Given the description of an element on the screen output the (x, y) to click on. 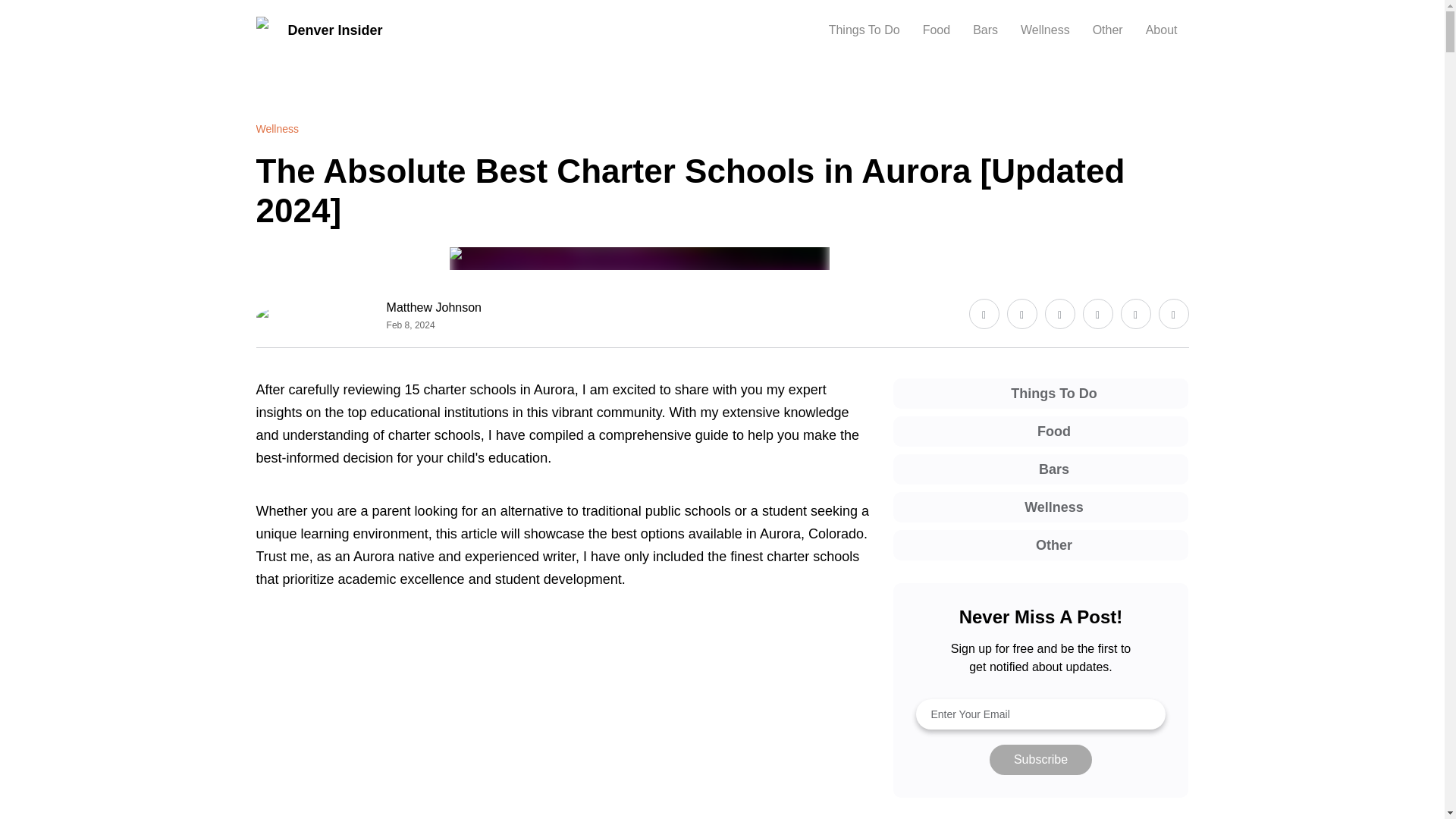
undefined (563, 731)
Matthew Johnson (434, 307)
Wellness (277, 128)
Things To Do (863, 30)
Denver Insider (319, 30)
